Given the description of an element on the screen output the (x, y) to click on. 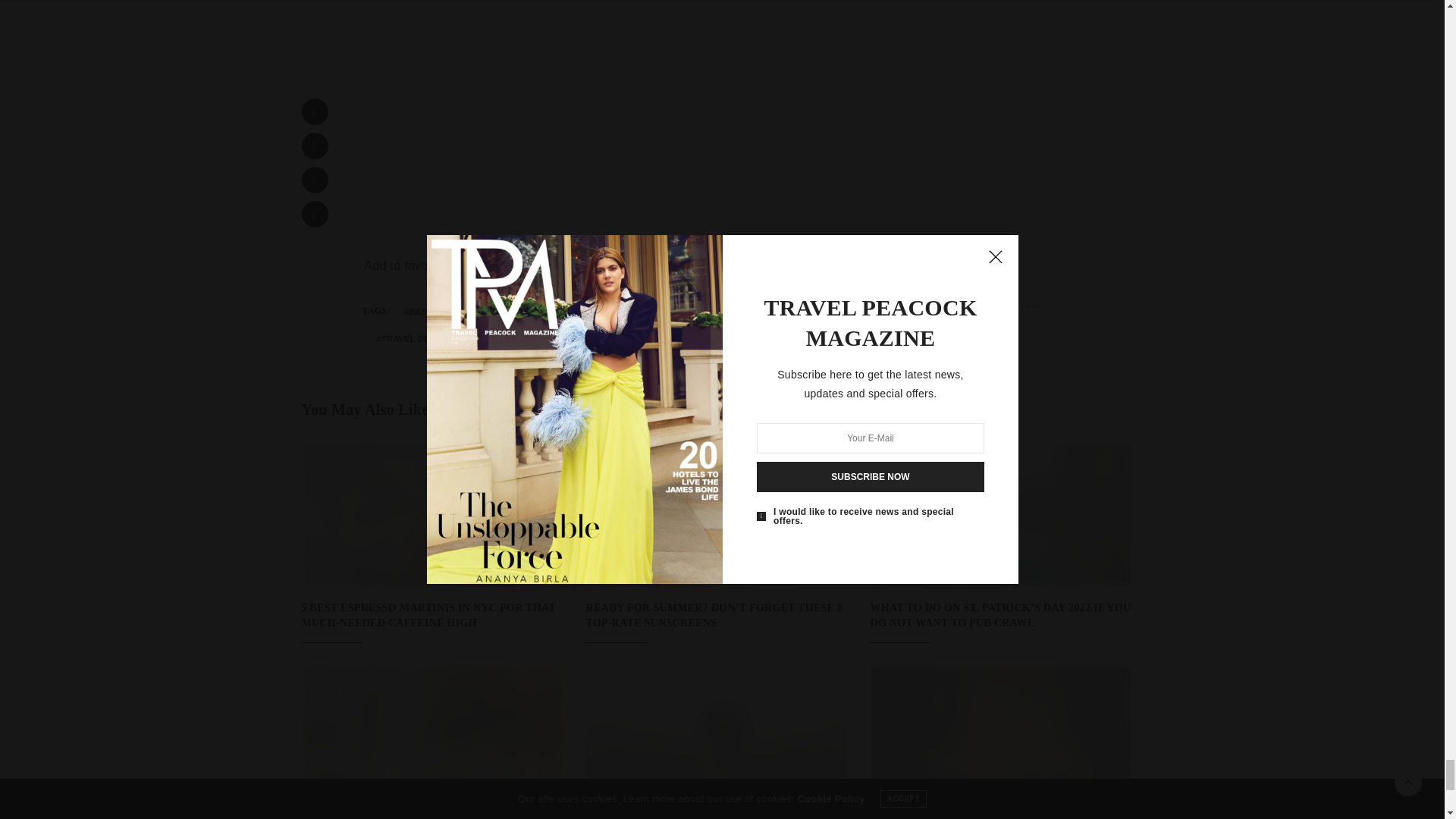
Add to favorites (407, 265)
